Given the description of an element on the screen output the (x, y) to click on. 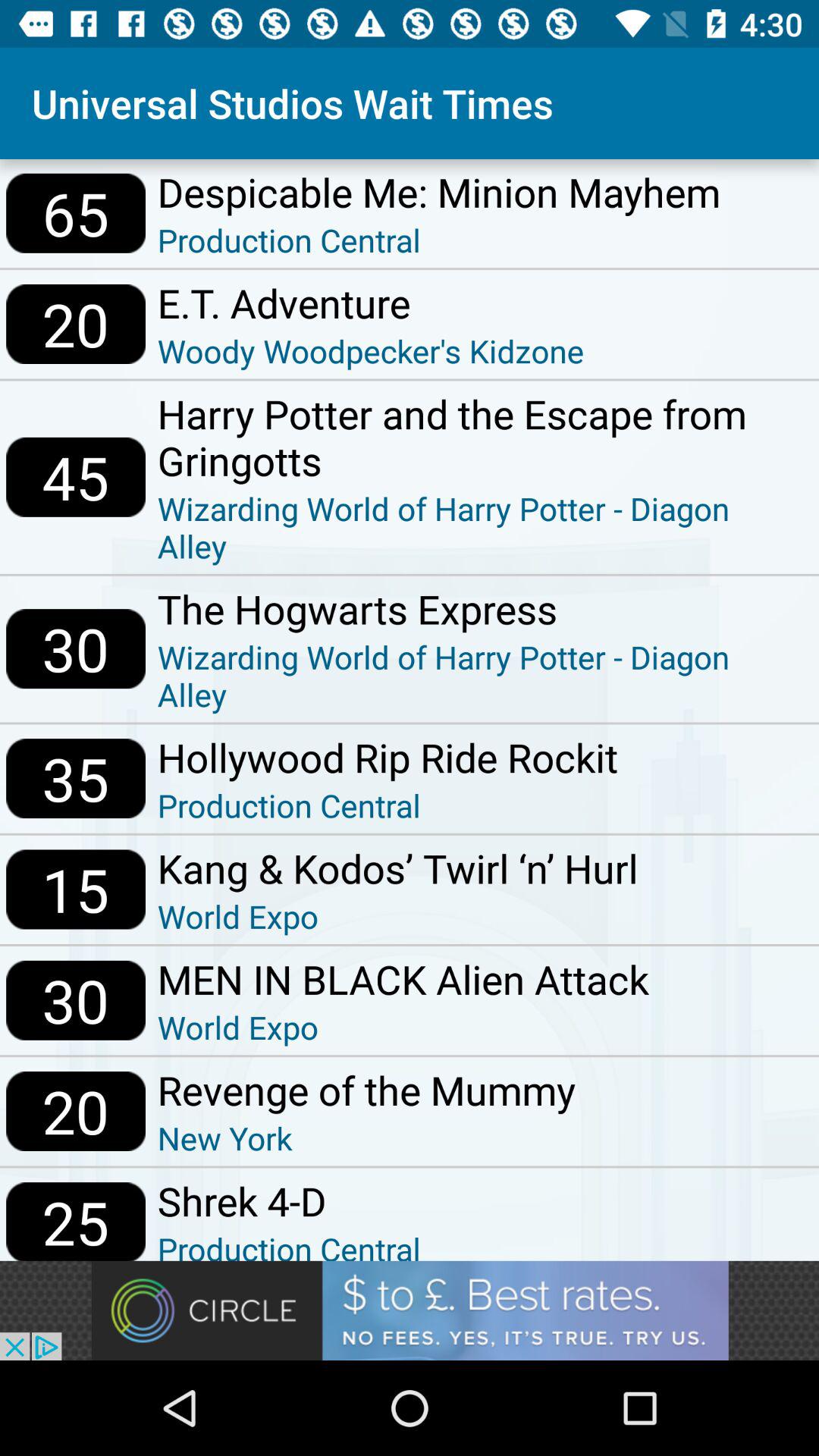
turn on the icon next to 30 (402, 978)
